Given the description of an element on the screen output the (x, y) to click on. 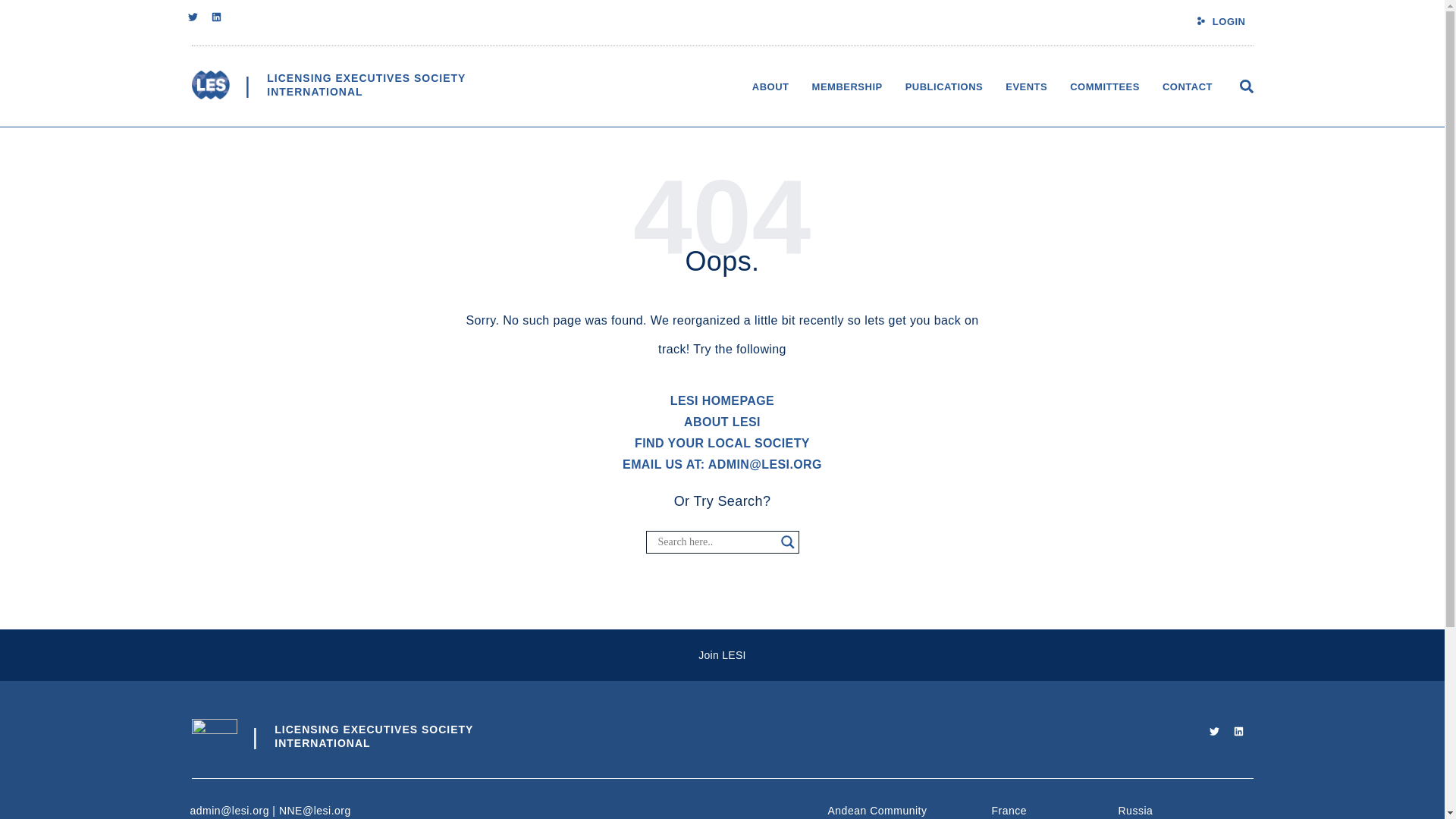
LOGIN (1229, 21)
